Given the description of an element on the screen output the (x, y) to click on. 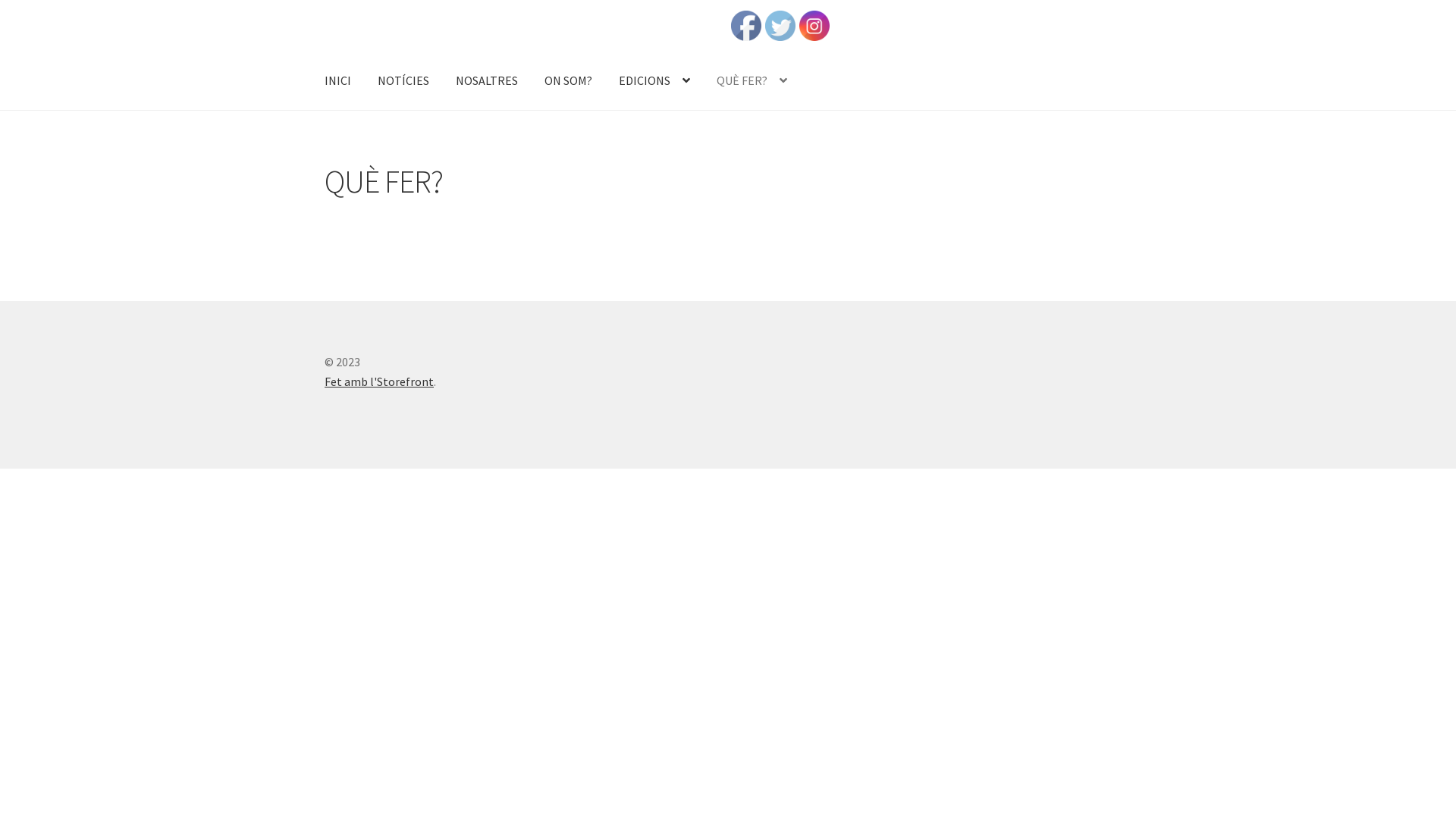
INICI Element type: text (337, 80)
Twitter Element type: hover (780, 25)
Facebook Element type: hover (746, 25)
NOSALTRES Element type: text (486, 80)
Fet amb l'Storefront Element type: text (378, 381)
ON SOM? Element type: text (568, 80)
Instagram Element type: hover (814, 25)
EDICIONS Element type: text (654, 80)
